Given the description of an element on the screen output the (x, y) to click on. 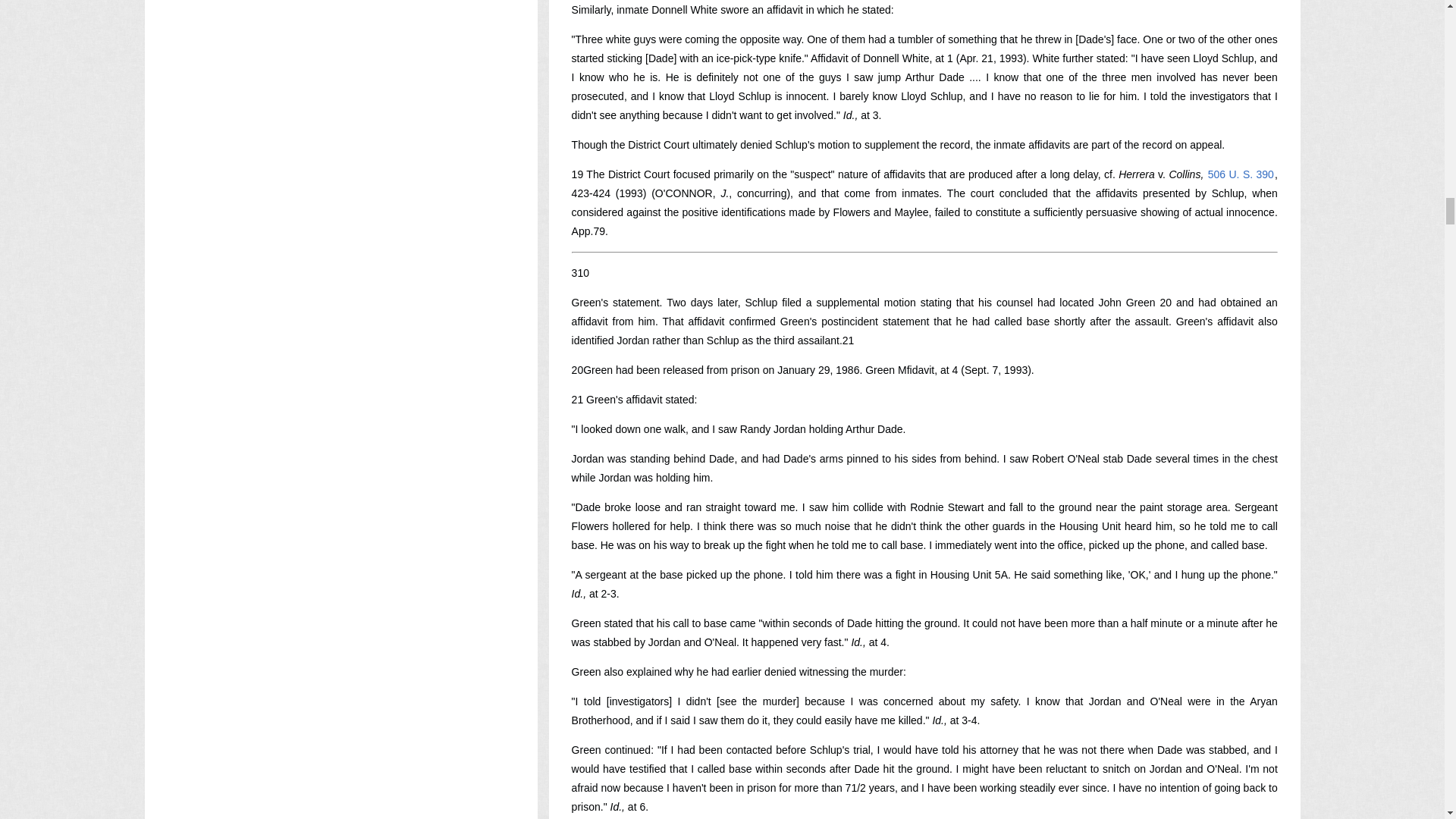
310 (580, 272)
